Given the description of an element on the screen output the (x, y) to click on. 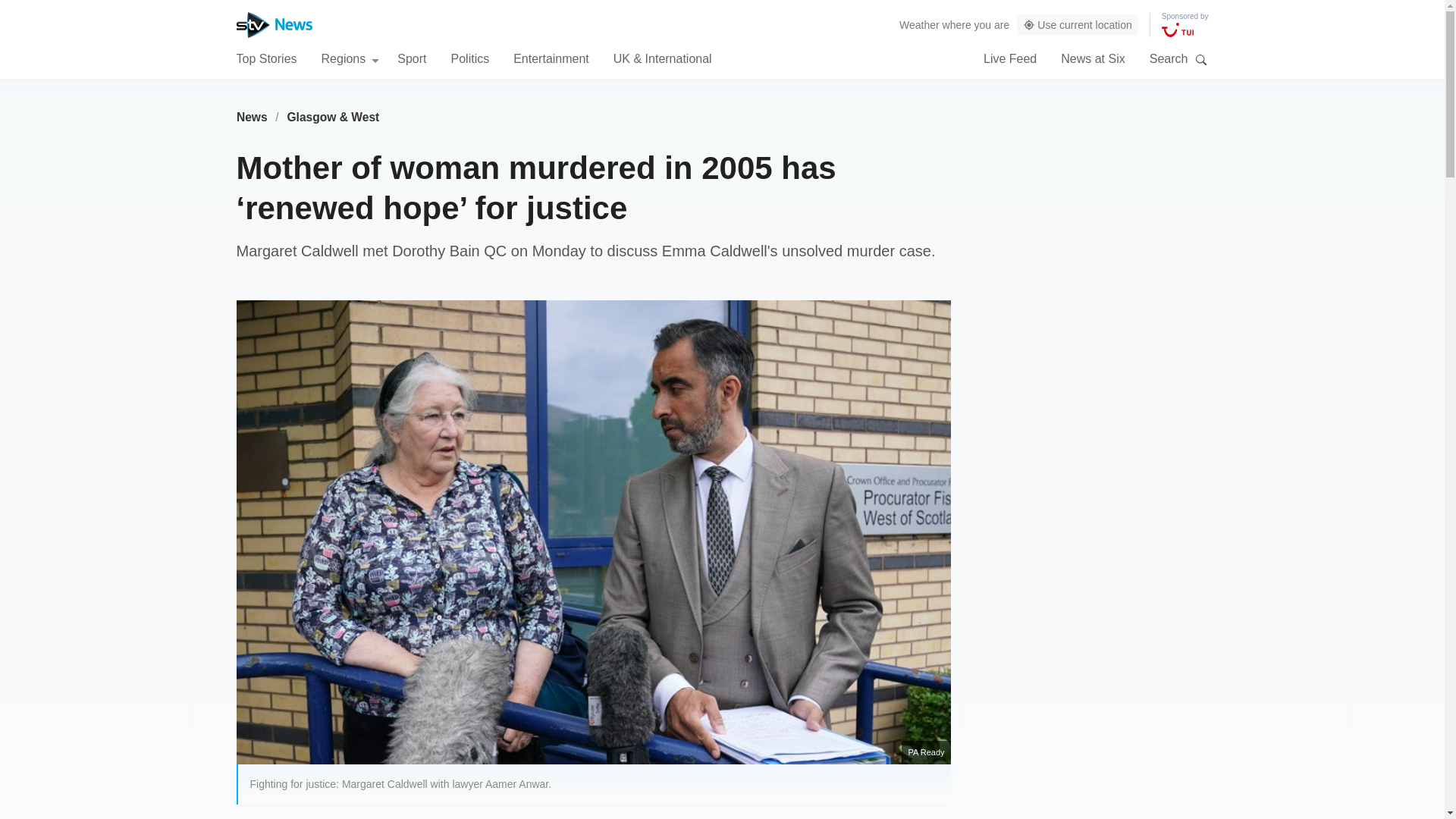
Search (1201, 59)
Live Feed (1010, 57)
News (252, 116)
Regions (350, 57)
Entertainment (551, 57)
Top Stories (266, 57)
Politics (469, 57)
Weather (919, 24)
Use current location (1077, 25)
News at Six (1092, 57)
